Given the description of an element on the screen output the (x, y) to click on. 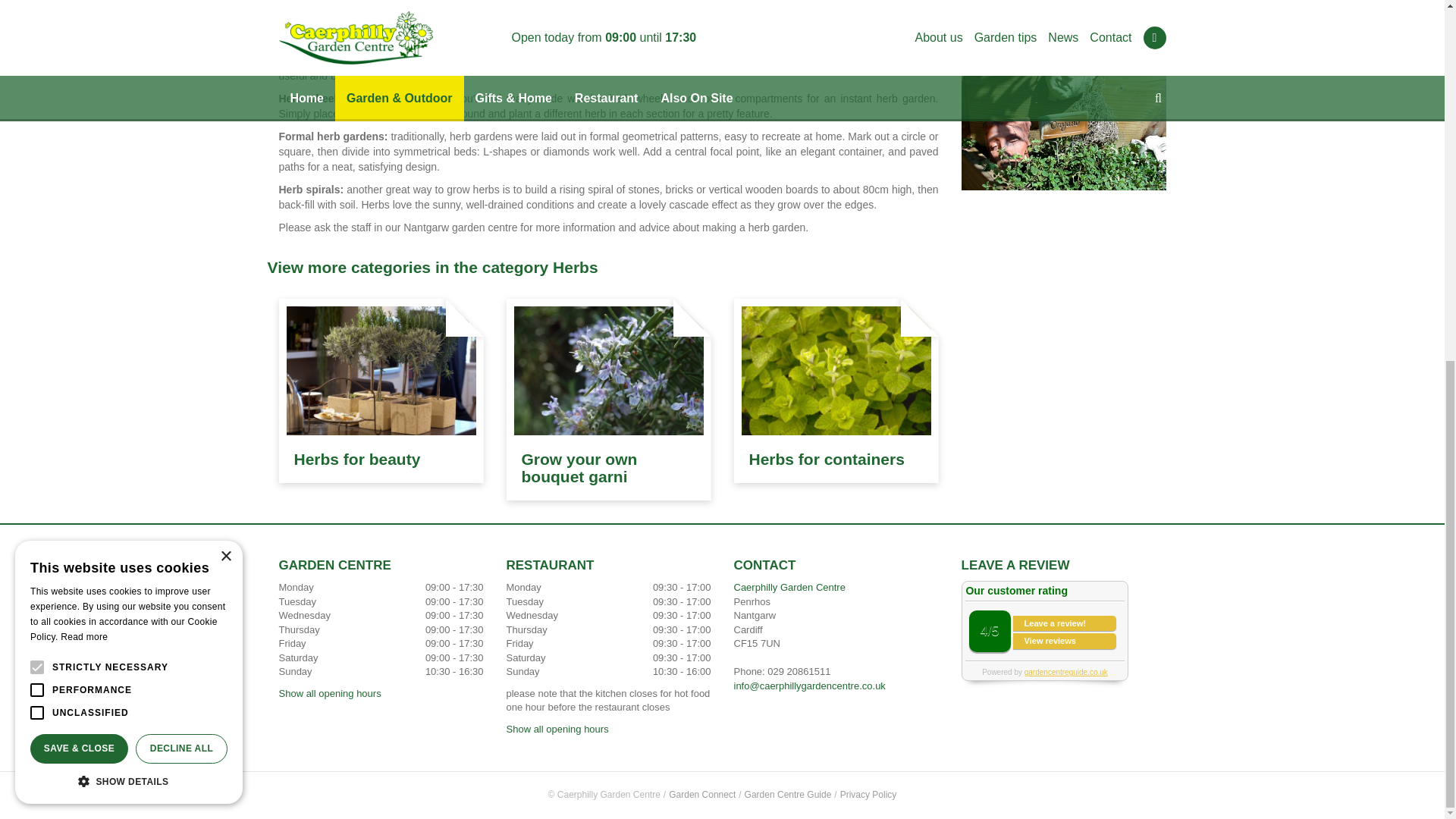
Grow your own bouquet garni (579, 467)
Herbs for containers (826, 458)
Caerphilly Garden Centre (789, 586)
Show all opening hours (557, 728)
Herbs for beauty (357, 458)
Show all opening hours (330, 693)
